Given the description of an element on the screen output the (x, y) to click on. 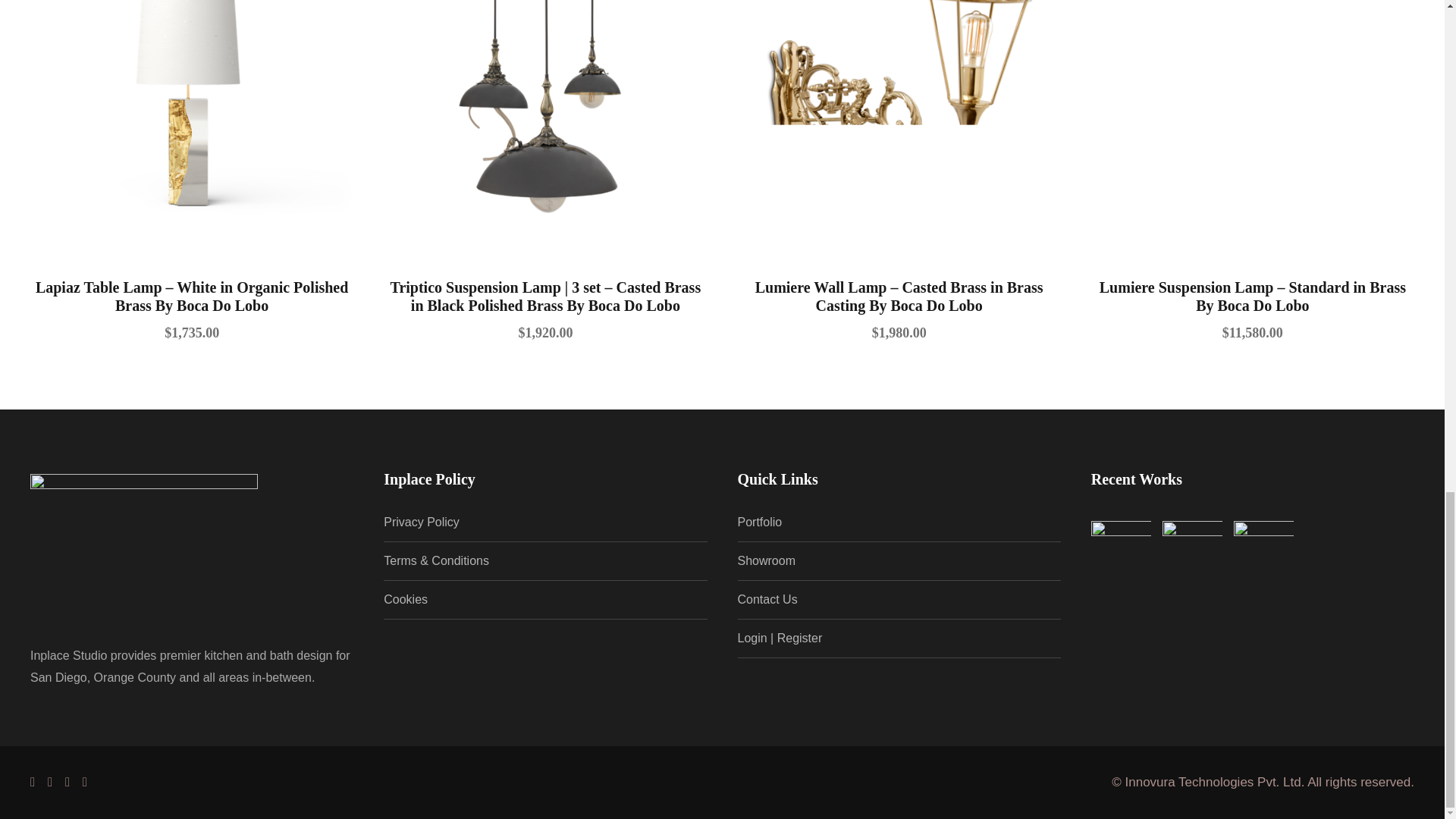
lumiere-suspension-lamp-01-zoom-boca-do-lobo.png (1251, 124)
lumiere-wall-lamp-01-zoom-boca-do-lobo.png (897, 124)
triptico-suspension-lamp-01-zoom-boca-do-lobo.png (545, 124)
lapiaz-table-lamp-01-zoom-boca-do-lobo.png (191, 124)
